Given the description of an element on the screen output the (x, y) to click on. 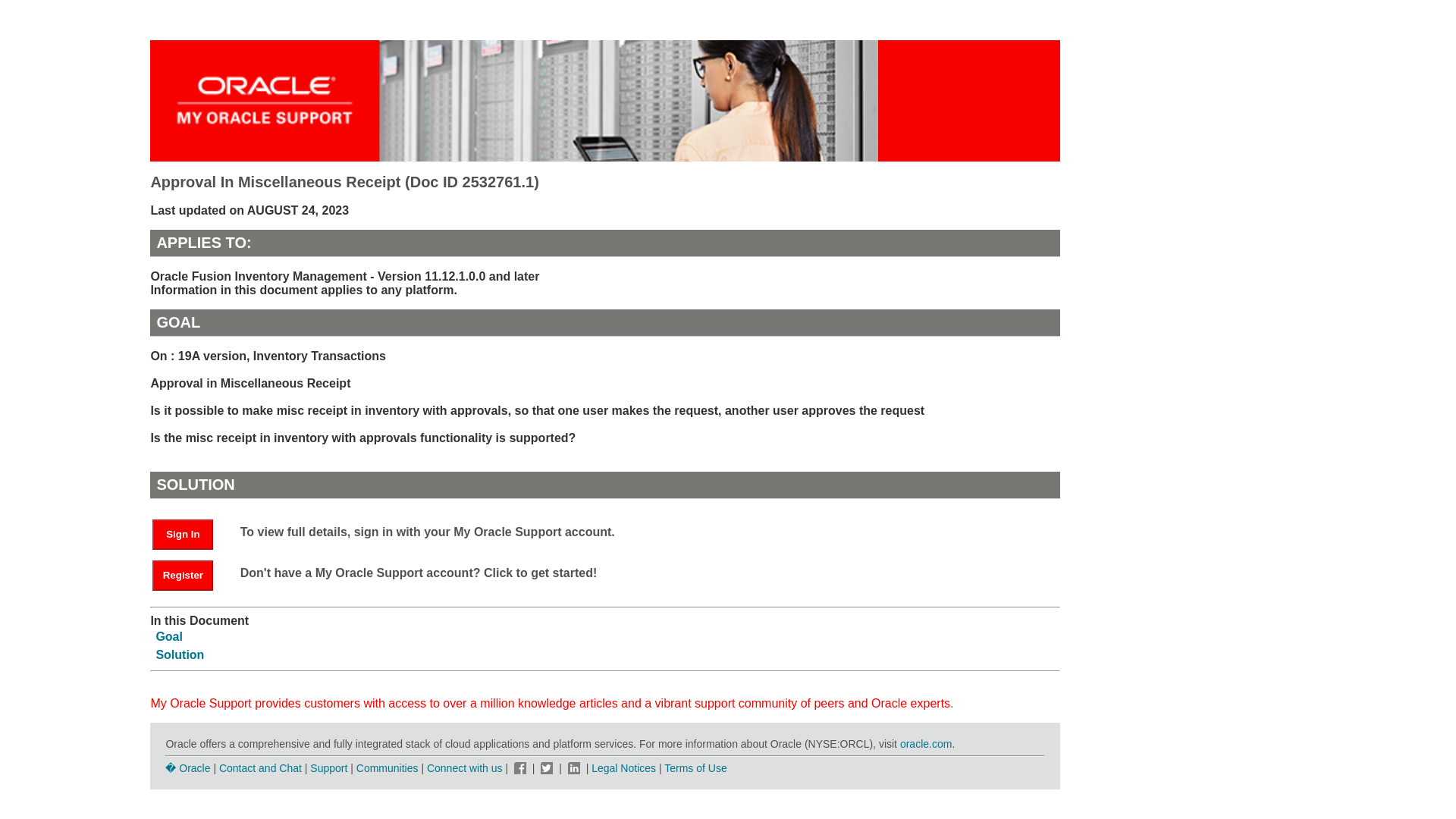
Support (328, 767)
Connect with us (465, 767)
oracle.com (925, 743)
Register (190, 574)
Contact and Chat (260, 767)
Register (182, 575)
Goal (169, 635)
Legal Notices (623, 767)
Terms of Use (694, 767)
Sign In (182, 534)
